Given the description of an element on the screen output the (x, y) to click on. 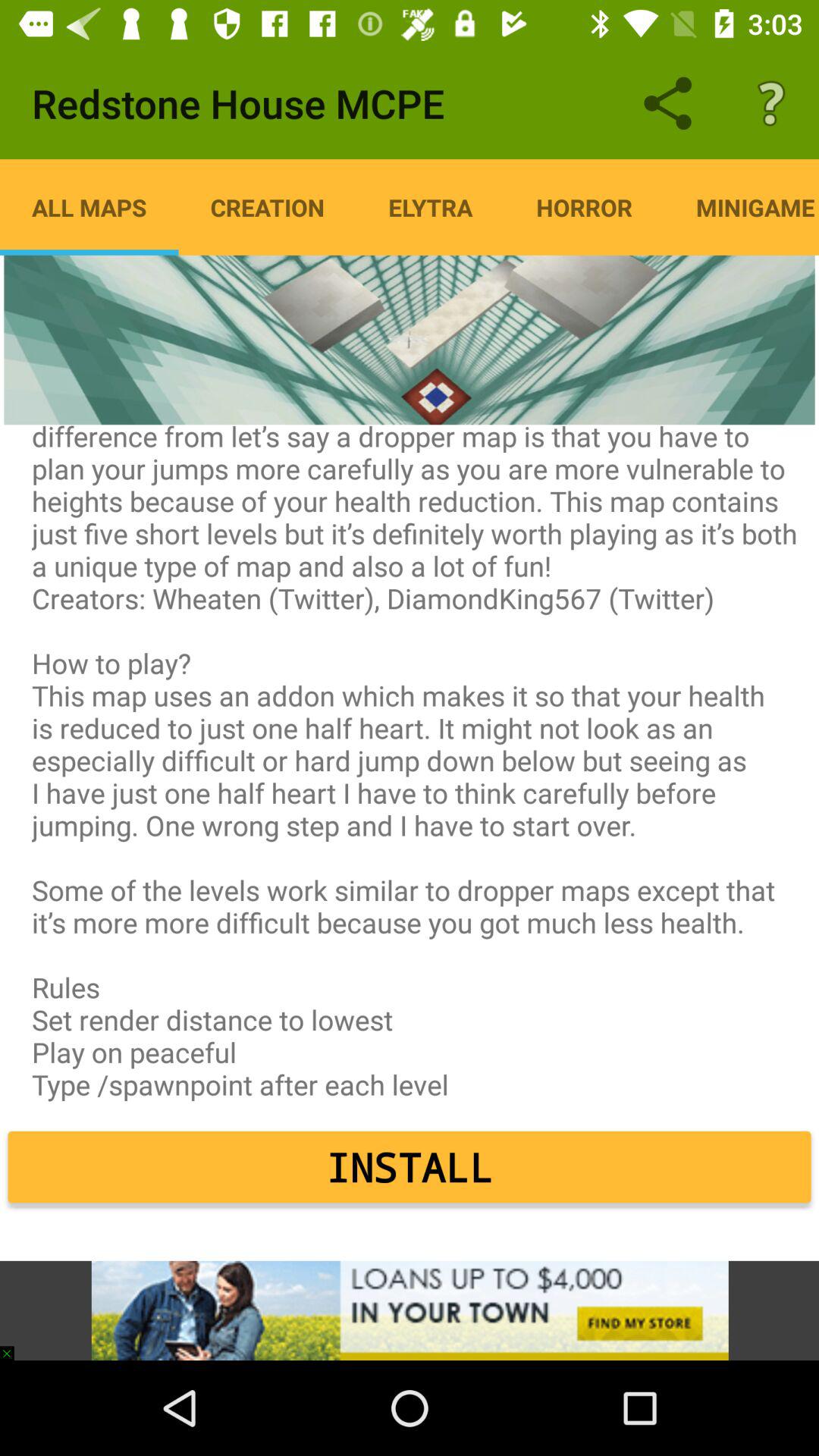
press the horror app (584, 207)
